Given the description of an element on the screen output the (x, y) to click on. 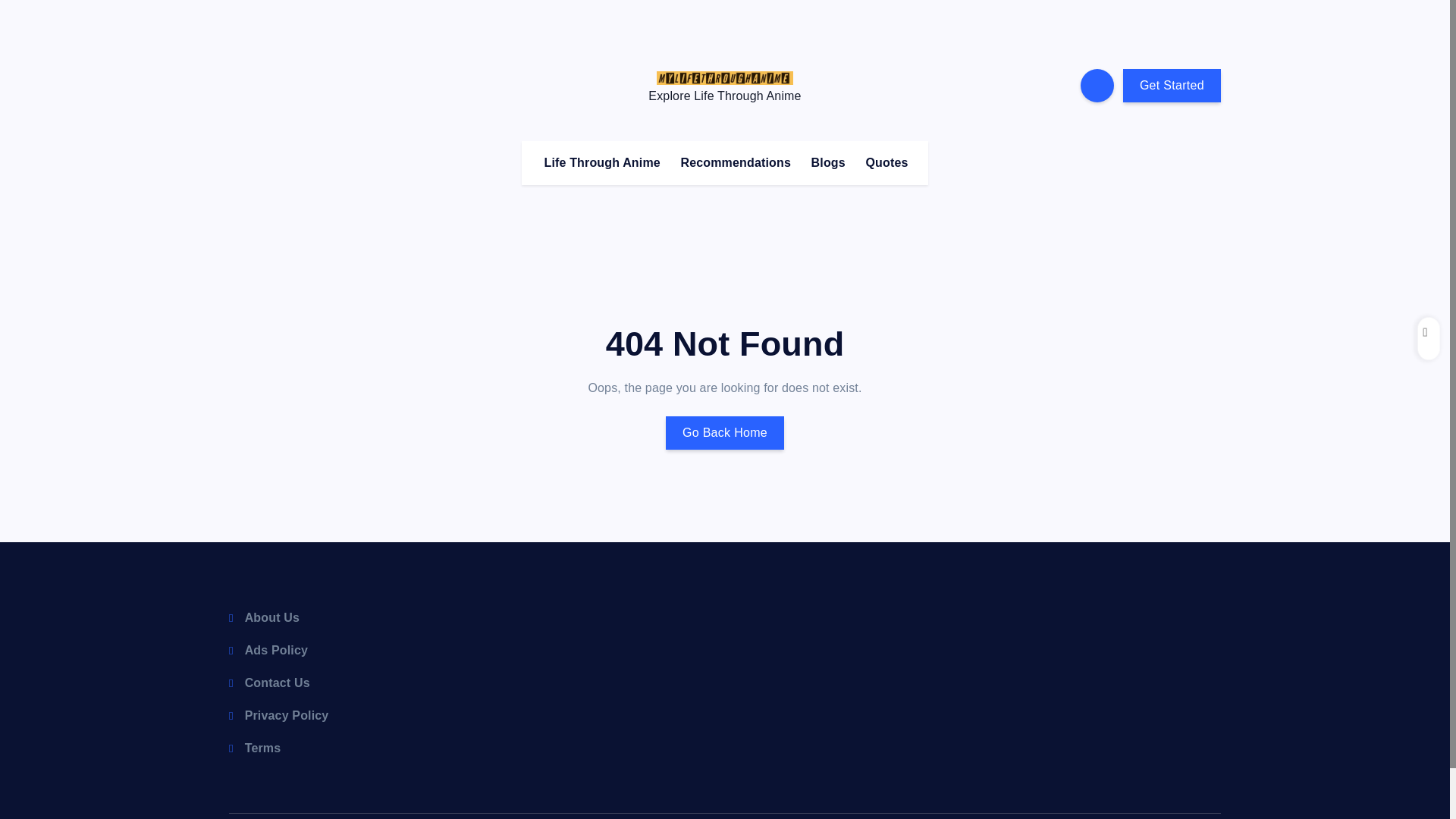
Blogs (828, 162)
Privacy Policy (278, 715)
Contact Us (269, 682)
Quotes (886, 162)
Recommendations (735, 162)
Life Through Anime (601, 162)
Blogs (828, 162)
Get Started (1171, 85)
Ads Policy (267, 649)
Terms (254, 748)
Life Through Anime (601, 162)
Quotes (886, 162)
Go Back Home (724, 432)
Recommendations (735, 162)
About Us (263, 617)
